Given the description of an element on the screen output the (x, y) to click on. 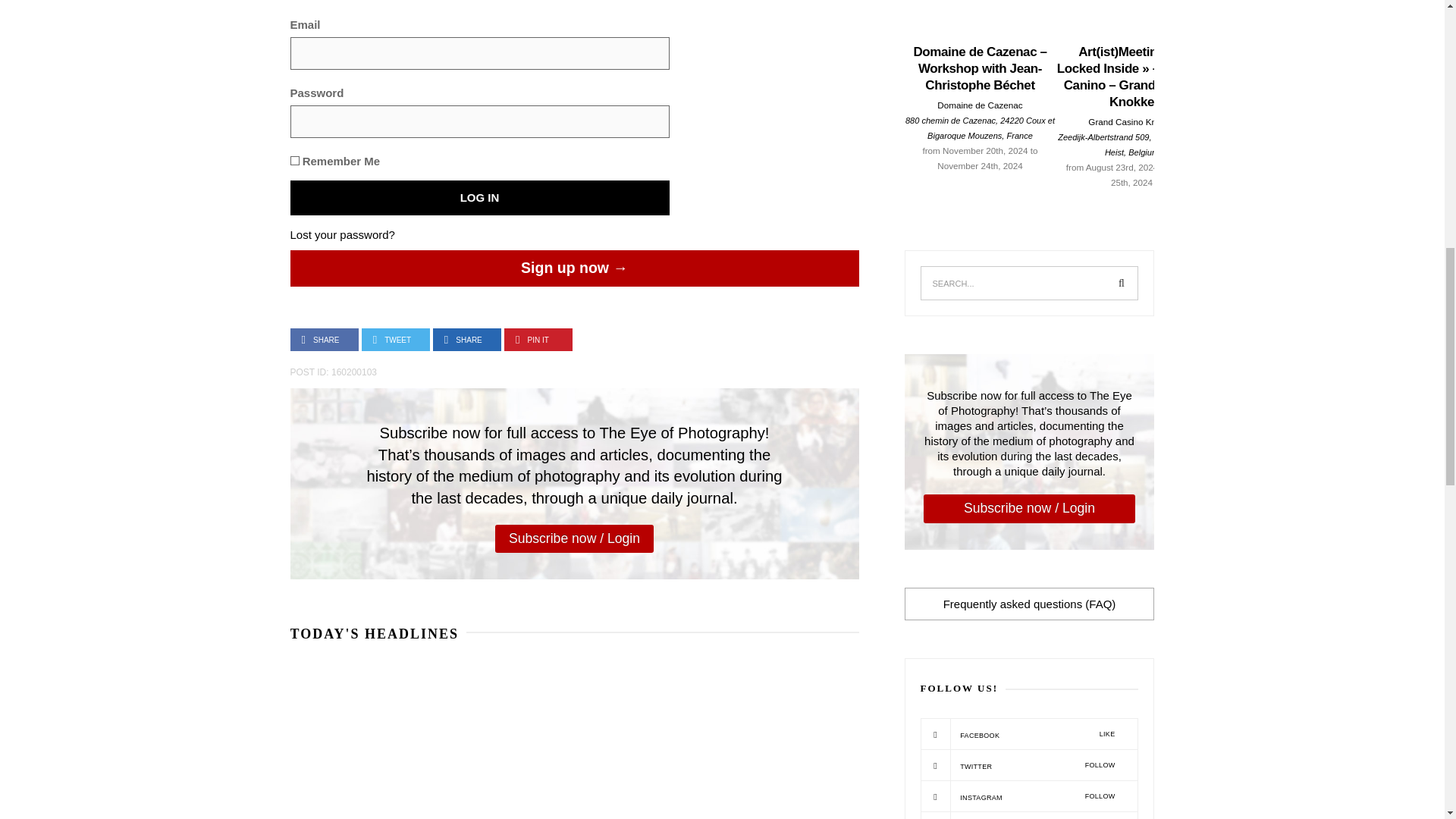
Log In (478, 197)
forever (293, 160)
